Given the description of an element on the screen output the (x, y) to click on. 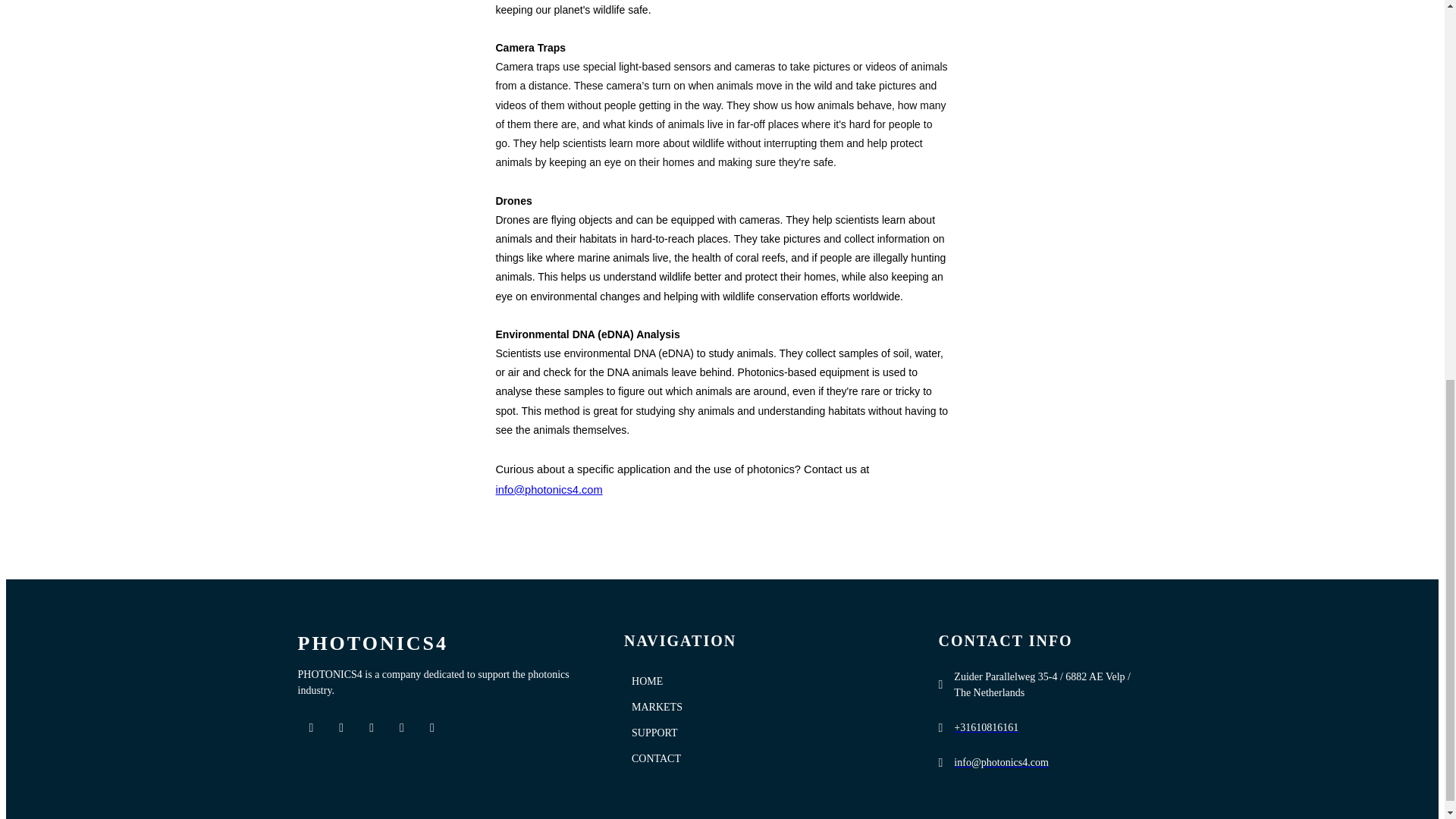
MARKETS (761, 707)
CONTACT (761, 759)
SUPPORT (761, 733)
PHOTONICS4 (441, 643)
HOME (761, 681)
